Given the description of an element on the screen output the (x, y) to click on. 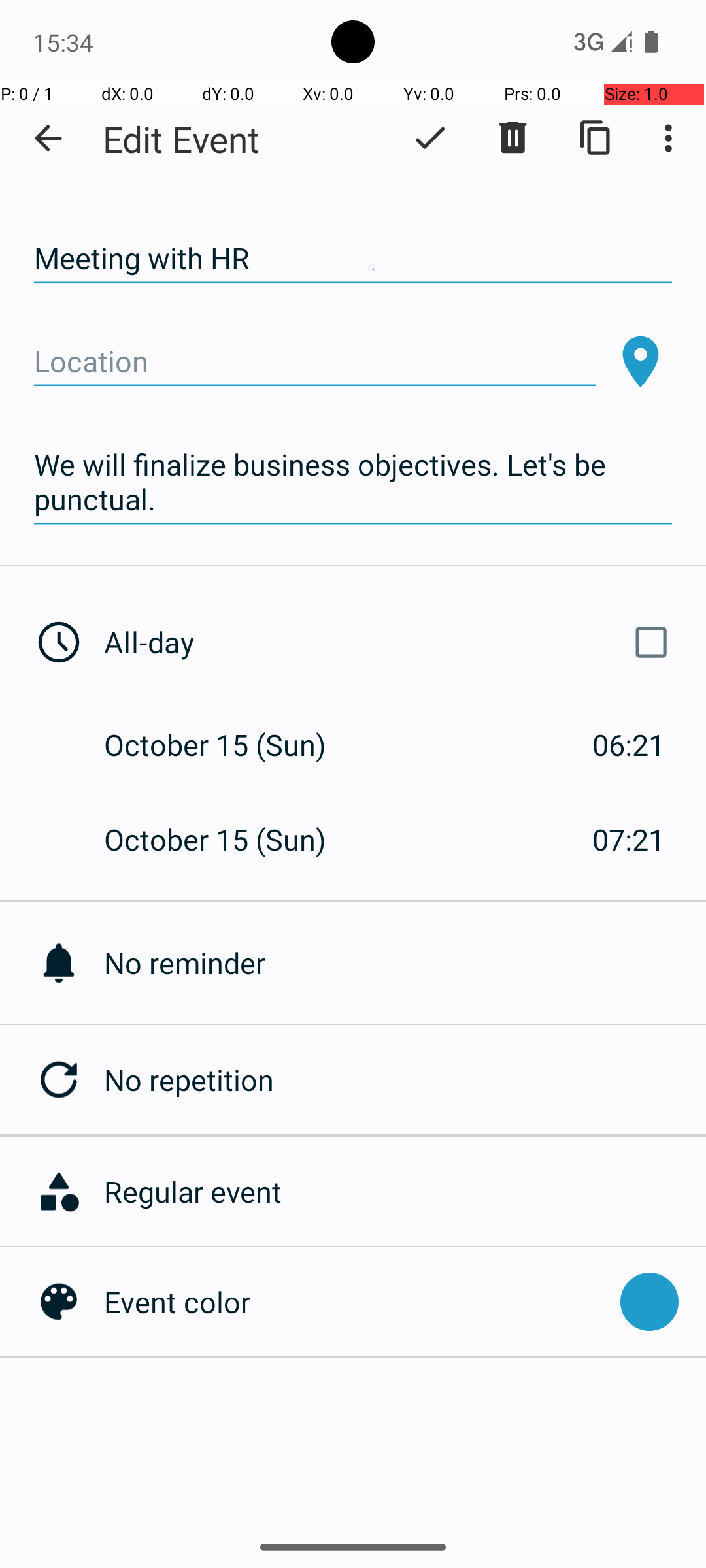
Meeting with HR Element type: android.widget.EditText (352, 258)
We will finalize business objectives. Let's be punctual. Element type: android.widget.EditText (352, 482)
06:21 Element type: android.widget.TextView (628, 744)
07:21 Element type: android.widget.TextView (628, 838)
